Given the description of an element on the screen output the (x, y) to click on. 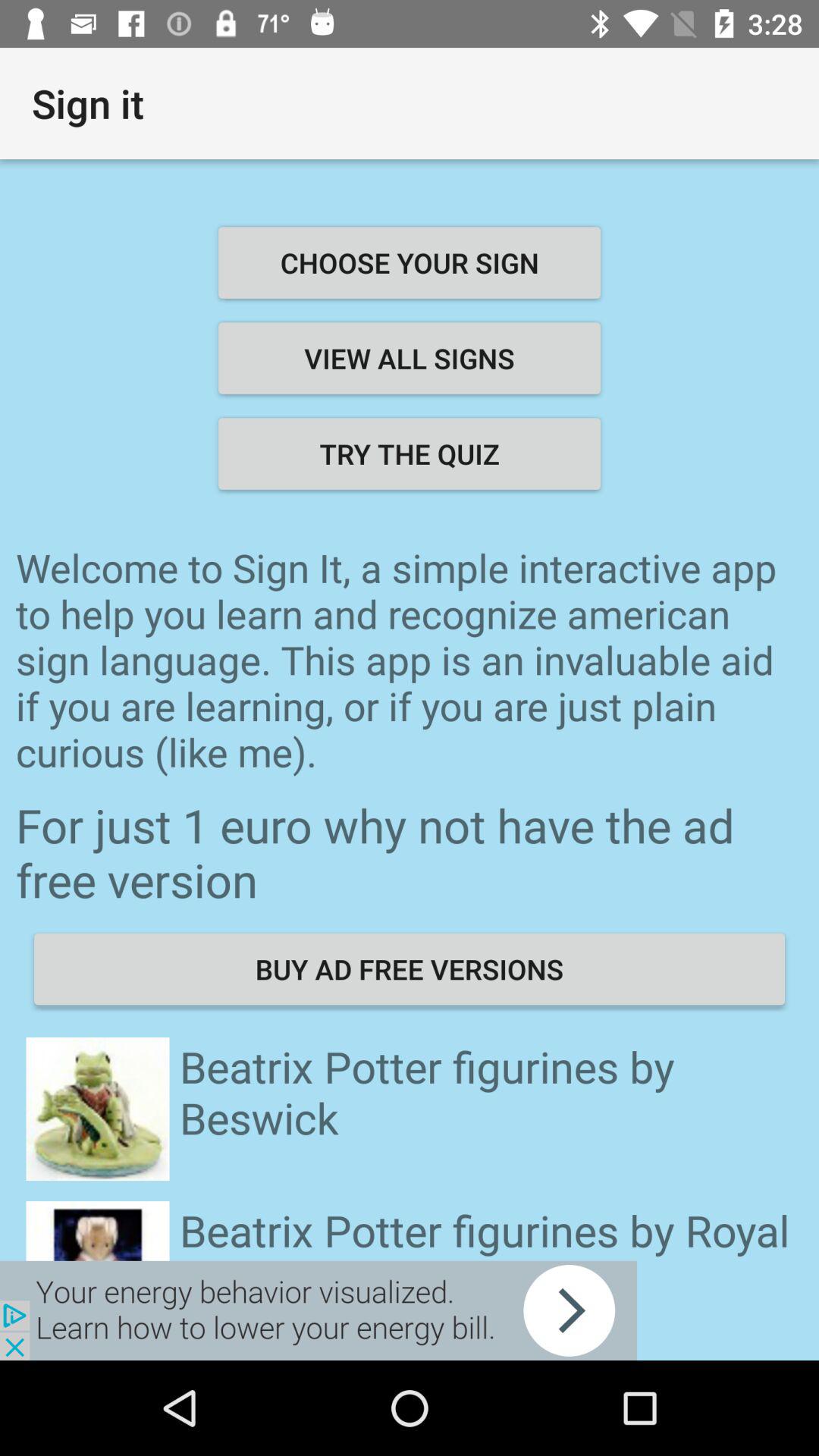
view advertisement (318, 1310)
